Given the description of an element on the screen output the (x, y) to click on. 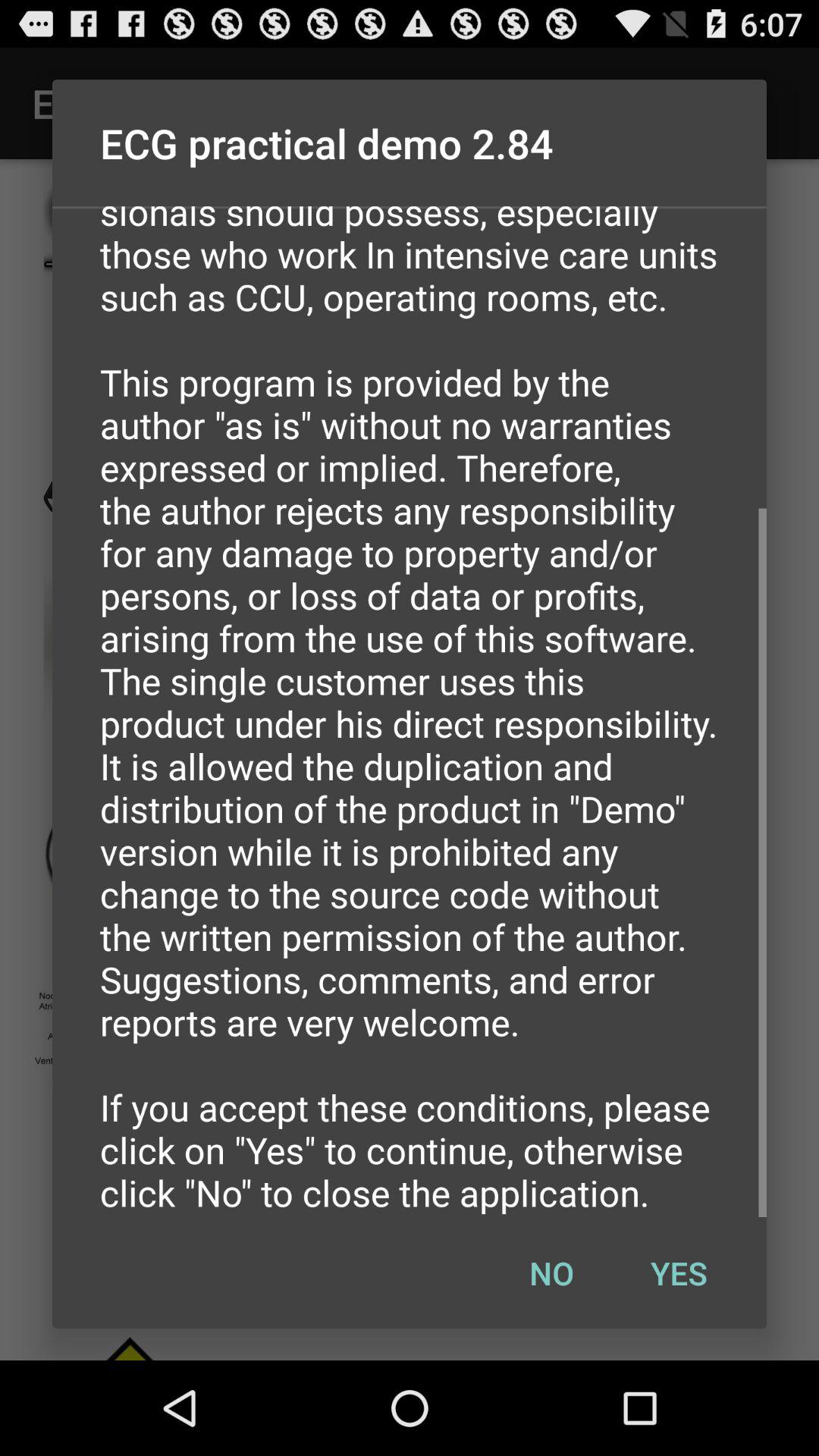
launch the item below kapelis aristidis 2014 (551, 1272)
